Given the description of an element on the screen output the (x, y) to click on. 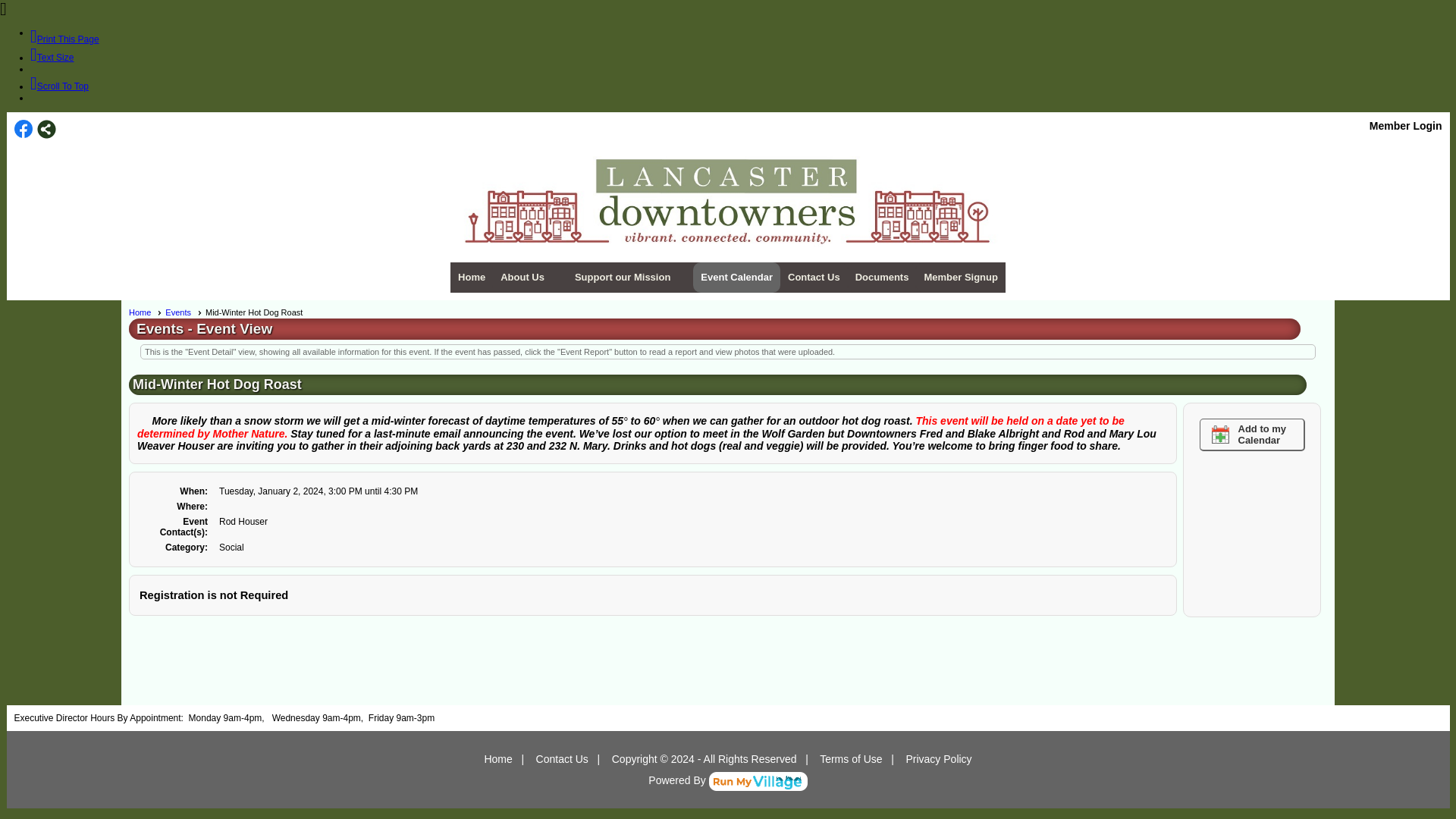
Member Signup (960, 277)
Home (471, 277)
Documents (882, 277)
Contact Us (813, 277)
vCalendar (1251, 434)
Visit us on Facebook (22, 128)
Member Login (1406, 125)
Menu (727, 277)
Events (183, 311)
Print (64, 39)
Home (145, 311)
Add to my Calendar (1251, 434)
Click here for more sharing options (45, 128)
Event Calendar (736, 277)
Text Size (52, 57)
